Given the description of an element on the screen output the (x, y) to click on. 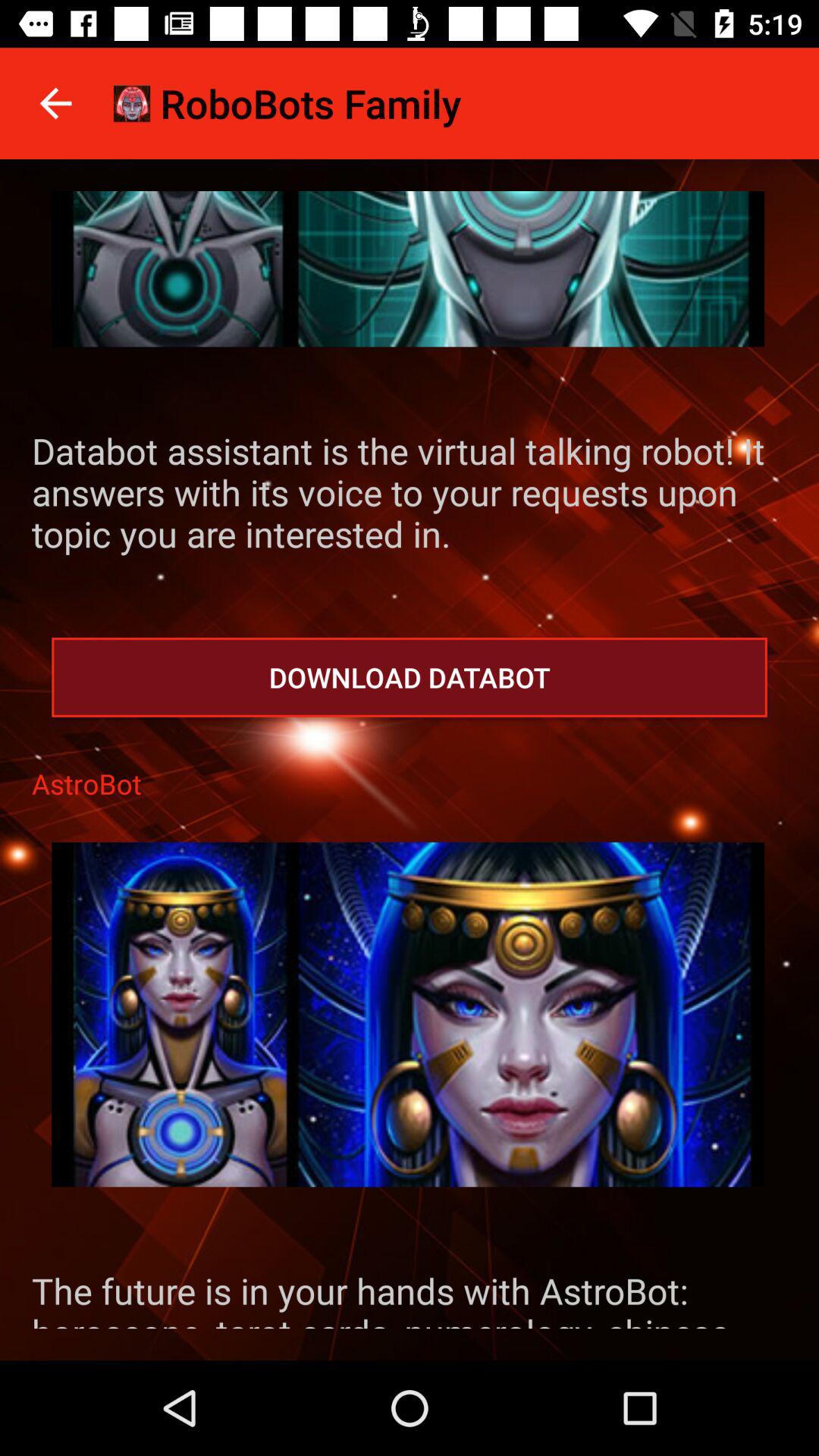
databot (407, 268)
